Given the description of an element on the screen output the (x, y) to click on. 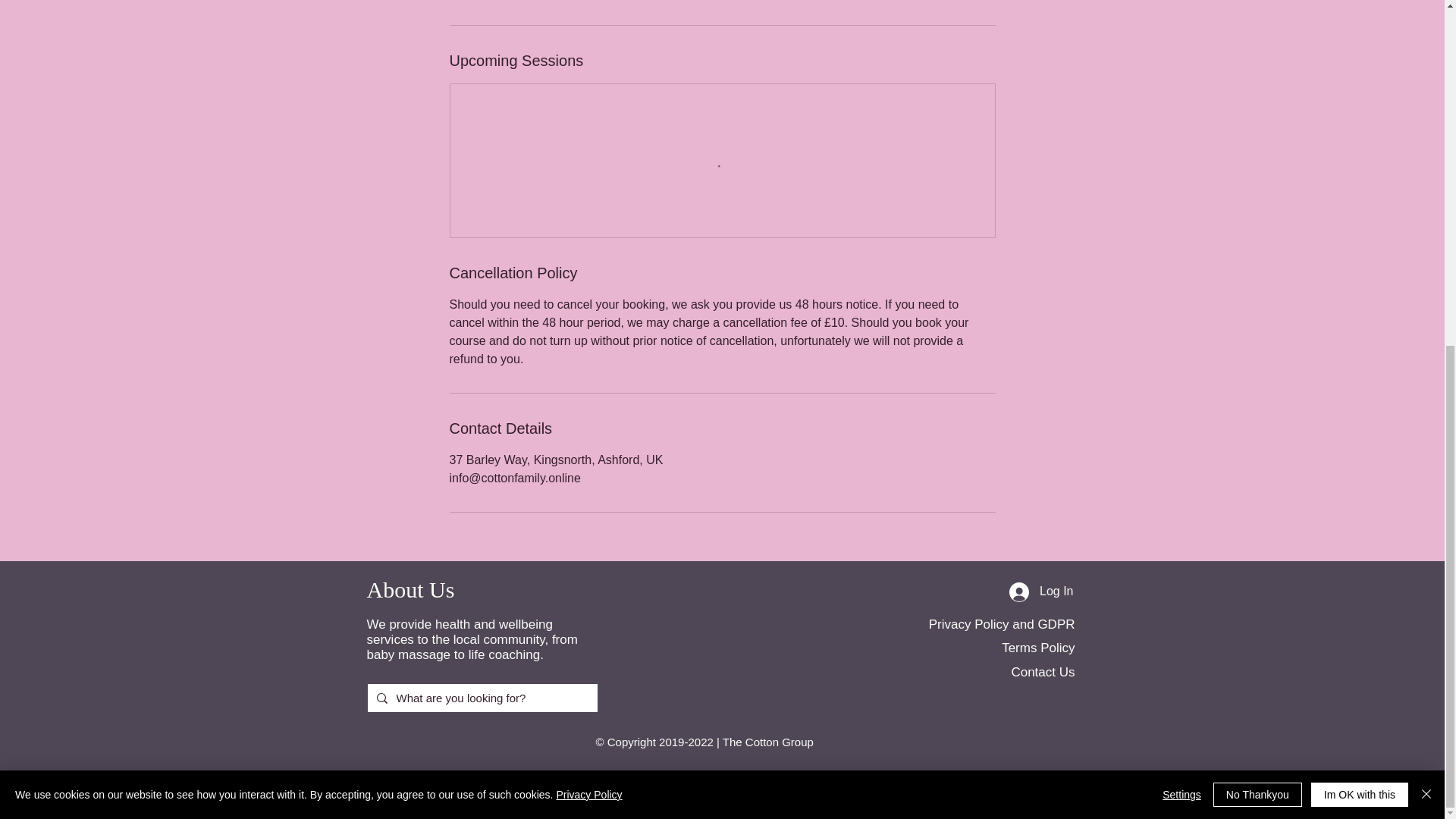
Sparkie (920, 779)
Log In (1040, 591)
Privacy Policy and GDPR (1001, 624)
Im OK with this (1359, 200)
Terms Policy (1037, 647)
Contact Us (1042, 672)
Privacy Policy (588, 200)
No Thankyou (1256, 200)
